Given the description of an element on the screen output the (x, y) to click on. 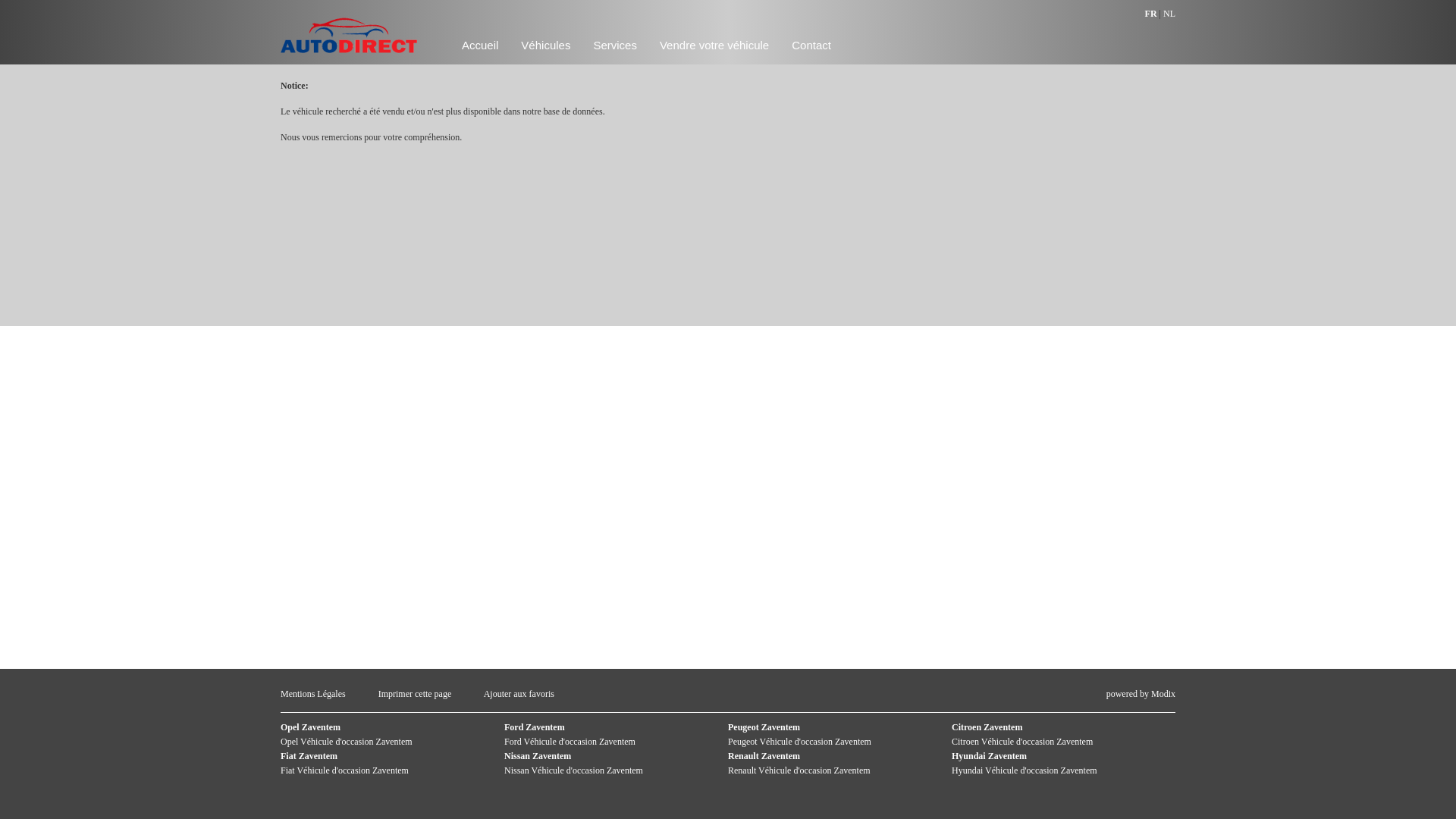
Contact Element type: text (811, 45)
Fiat Zaventem Element type: text (308, 755)
Accueil Element type: text (479, 45)
Opel Zaventem Element type: text (310, 726)
Modix Element type: text (1163, 693)
Peugeot Zaventem Element type: text (764, 726)
Hyundai Zaventem Element type: text (988, 755)
Citroen Zaventem Element type: text (986, 726)
Ajouter aux favoris Element type: text (518, 693)
Auto Direct Element type: hover (348, 64)
Renault Zaventem Element type: text (764, 755)
Ford Zaventem Element type: text (534, 726)
Imprimer cette page Element type: text (414, 693)
FR Element type: text (1151, 13)
Nissan Zaventem Element type: text (537, 755)
NL Element type: text (1169, 13)
Services Element type: text (614, 45)
